Given the description of an element on the screen output the (x, y) to click on. 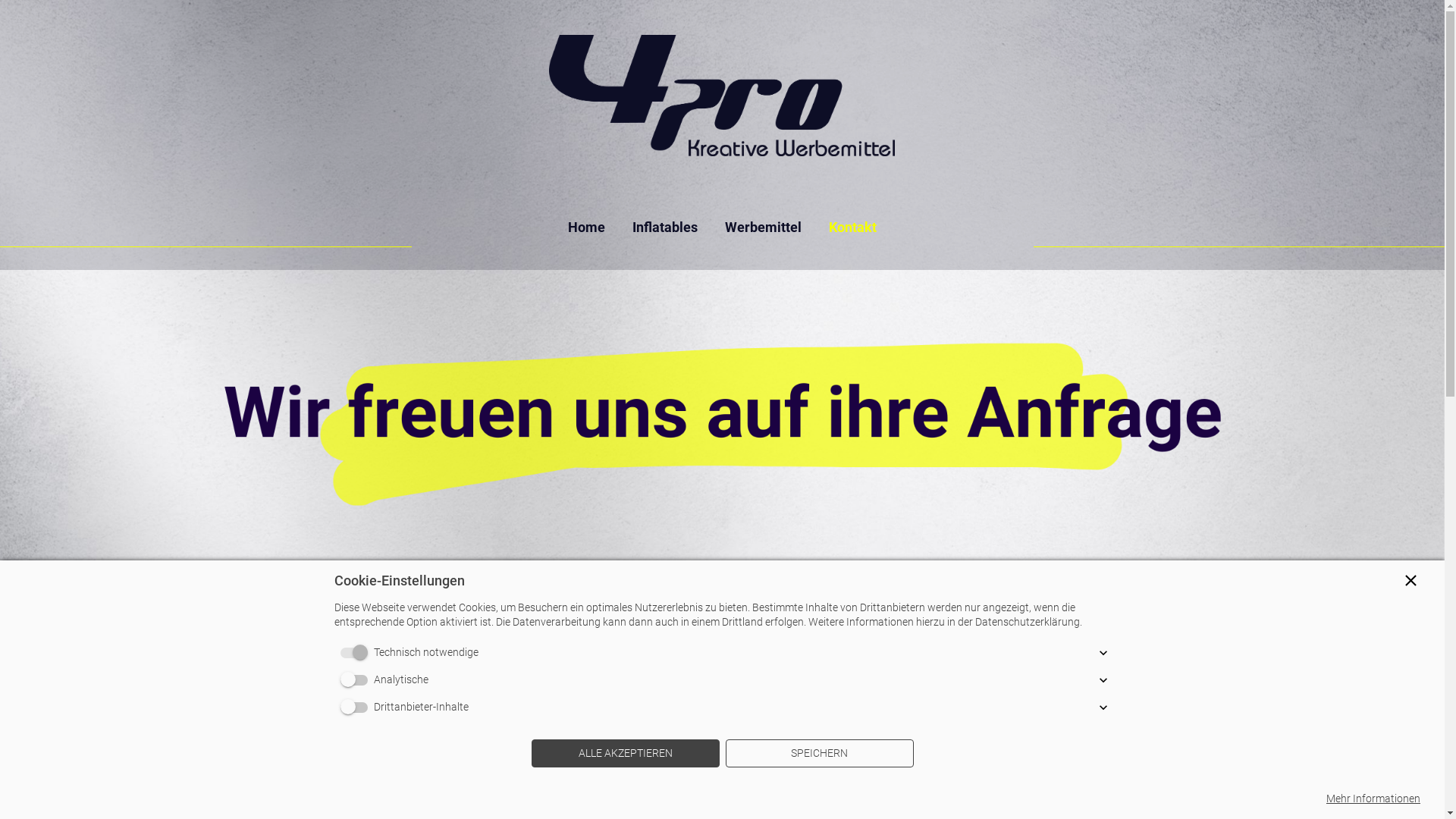
Inflatables Element type: text (664, 226)
SPEICHERN Element type: text (818, 753)
Home Element type: text (579, 226)
ALLE AKZEPTIEREN Element type: text (624, 753)
Werbemittel Element type: text (763, 226)
Mehr Informationen Element type: text (1373, 798)
Kontakt Element type: text (859, 226)
